Given the description of an element on the screen output the (x, y) to click on. 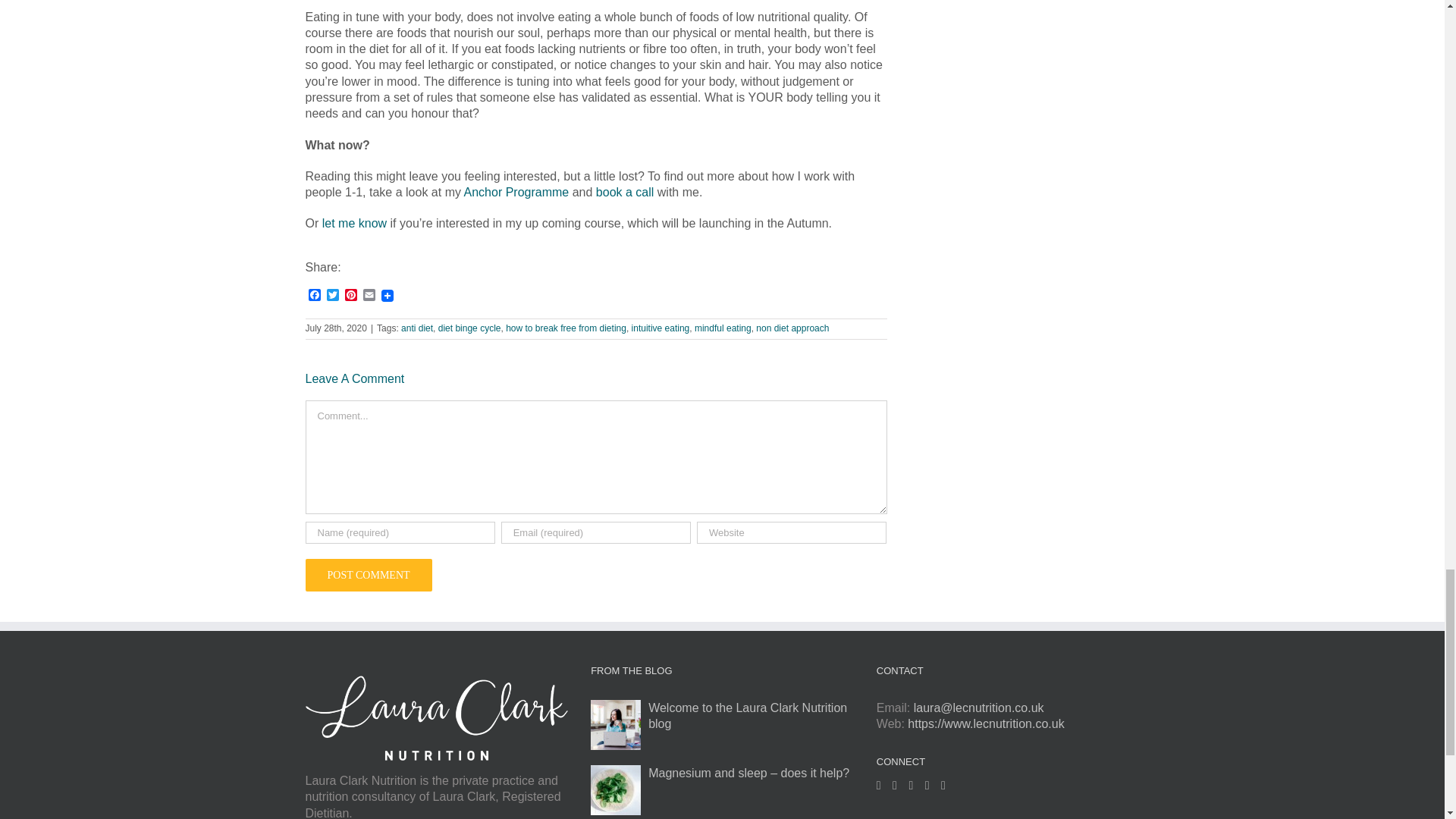
Facebook (313, 296)
Pinterest (349, 296)
Twitter (331, 296)
Email (368, 296)
Post Comment (367, 574)
